Given the description of an element on the screen output the (x, y) to click on. 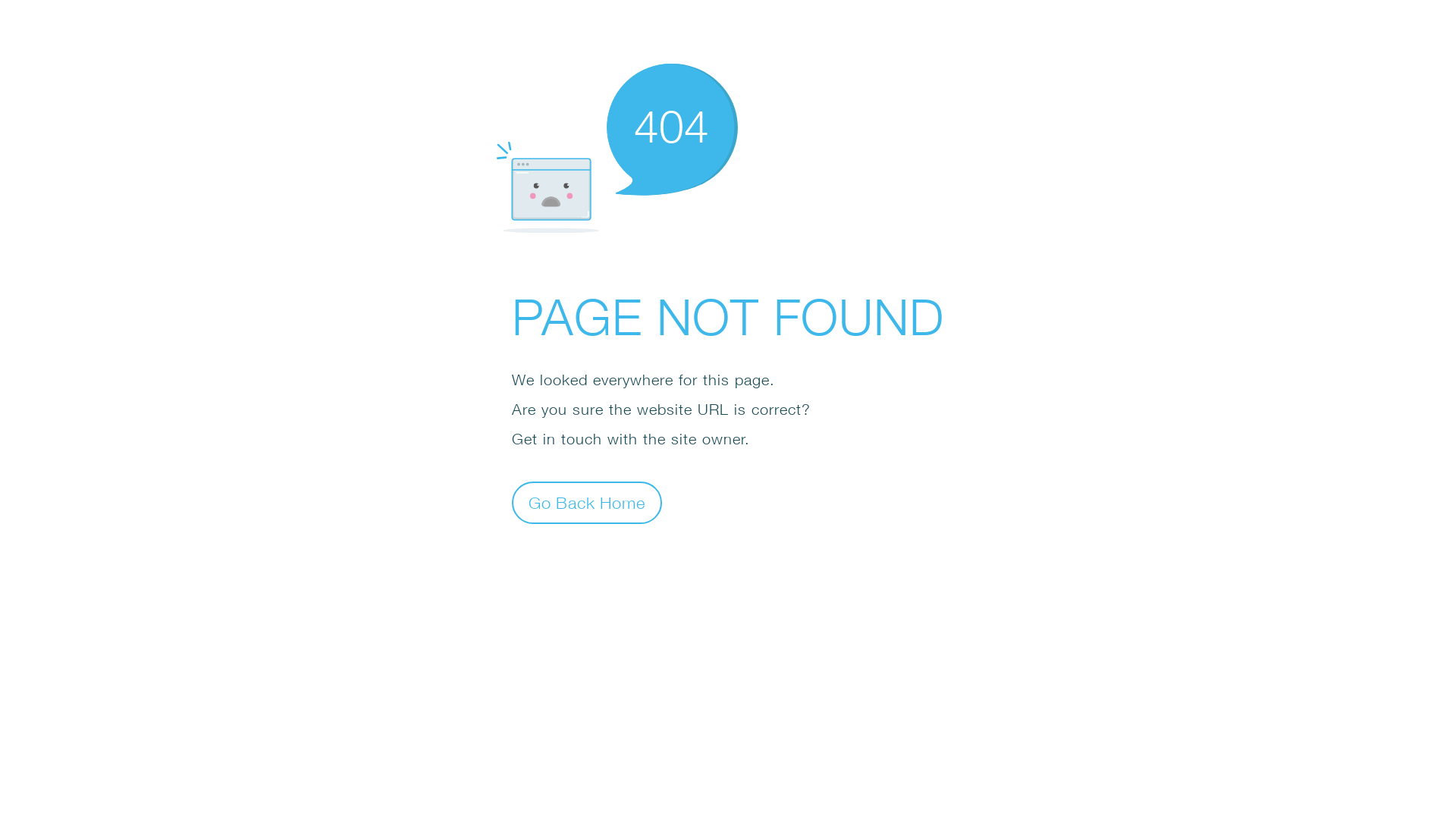
Go Back Home Element type: text (586, 502)
